Given the description of an element on the screen output the (x, y) to click on. 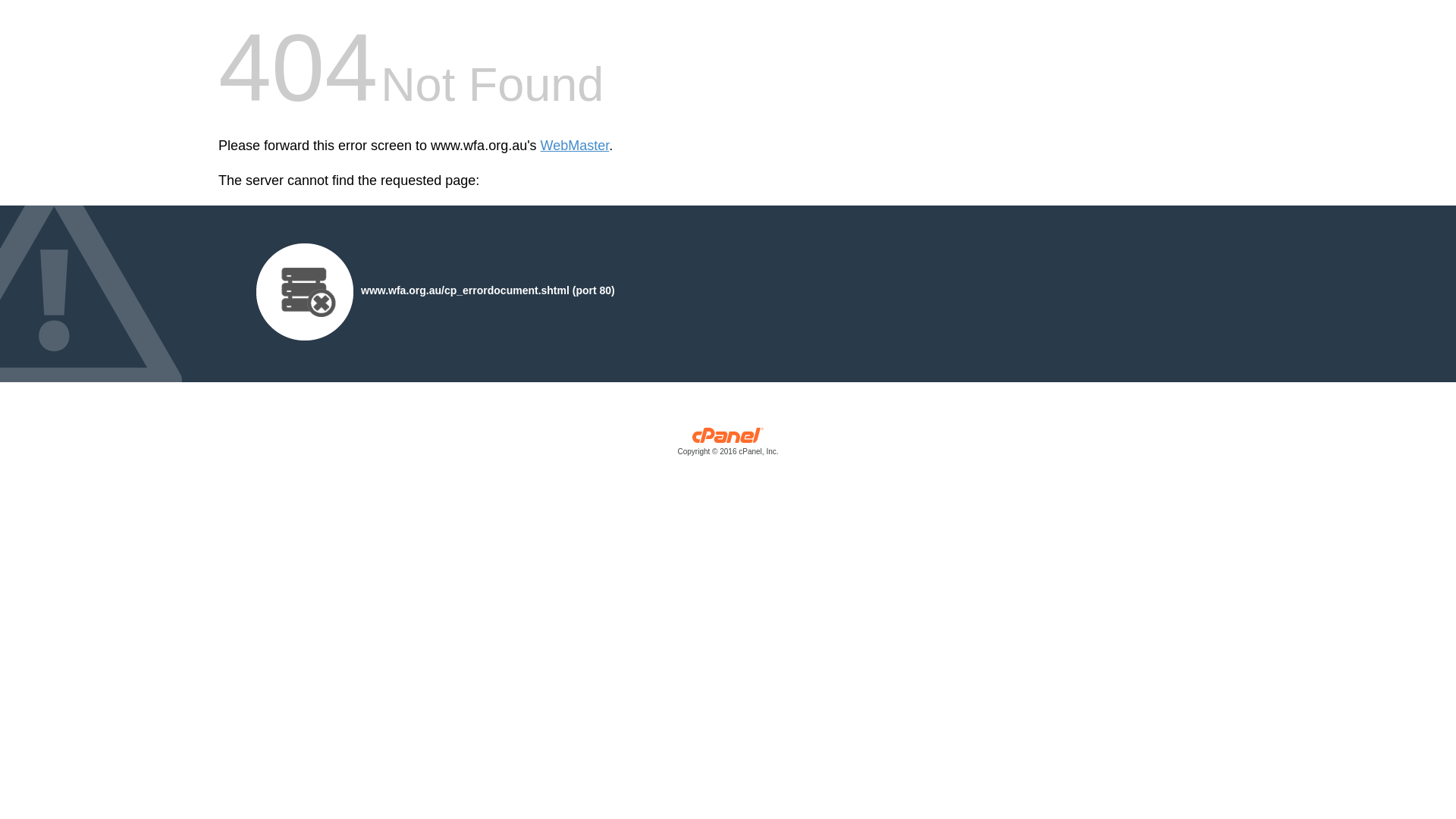
WebMaster Element type: text (574, 145)
